Given the description of an element on the screen output the (x, y) to click on. 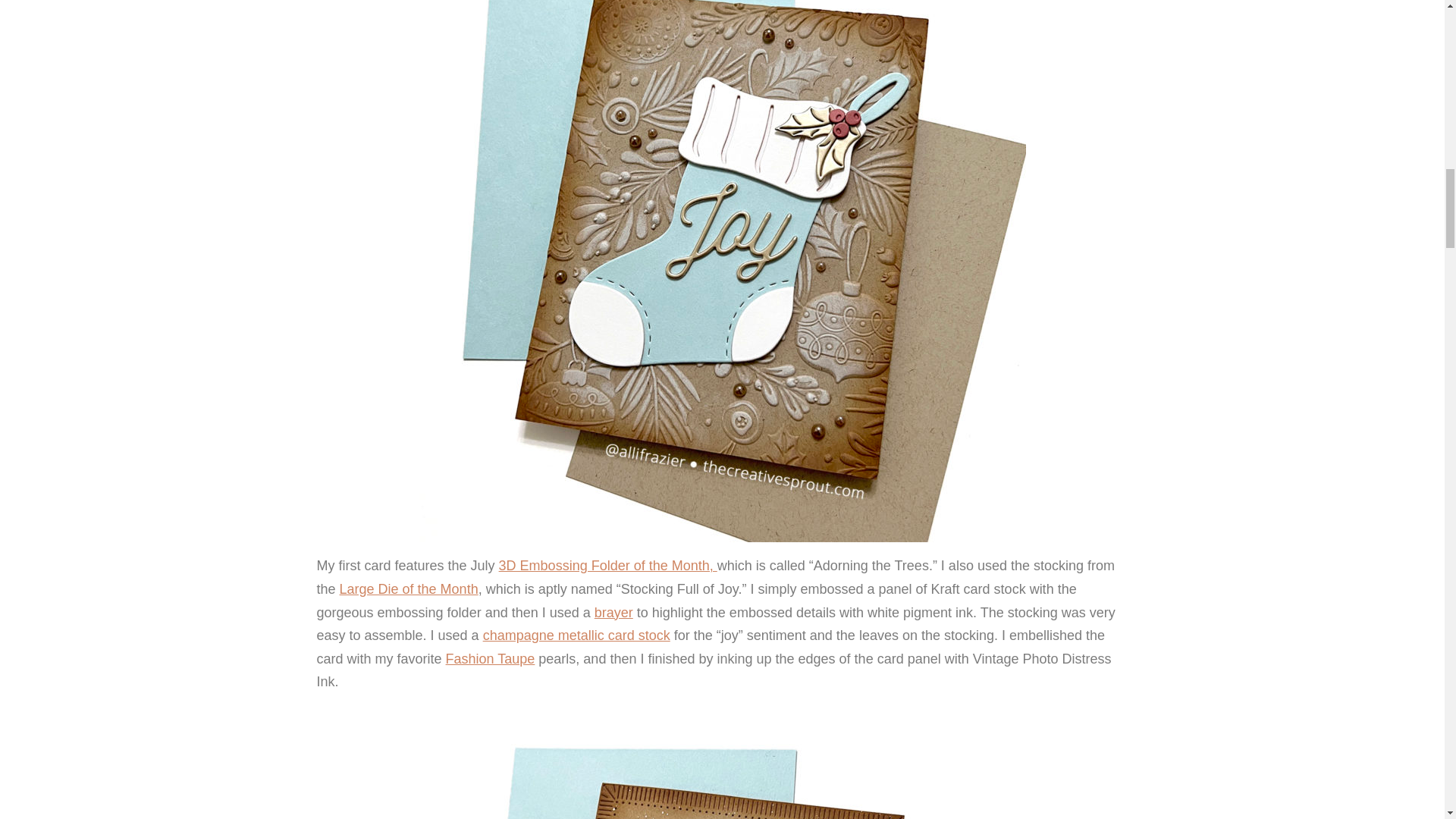
brayer (613, 612)
champagne metallic card stock (576, 635)
3D Embossing Folder of the Month, (608, 565)
Large Die of the Month (409, 589)
Fashion Taupe (490, 658)
